Given the description of an element on the screen output the (x, y) to click on. 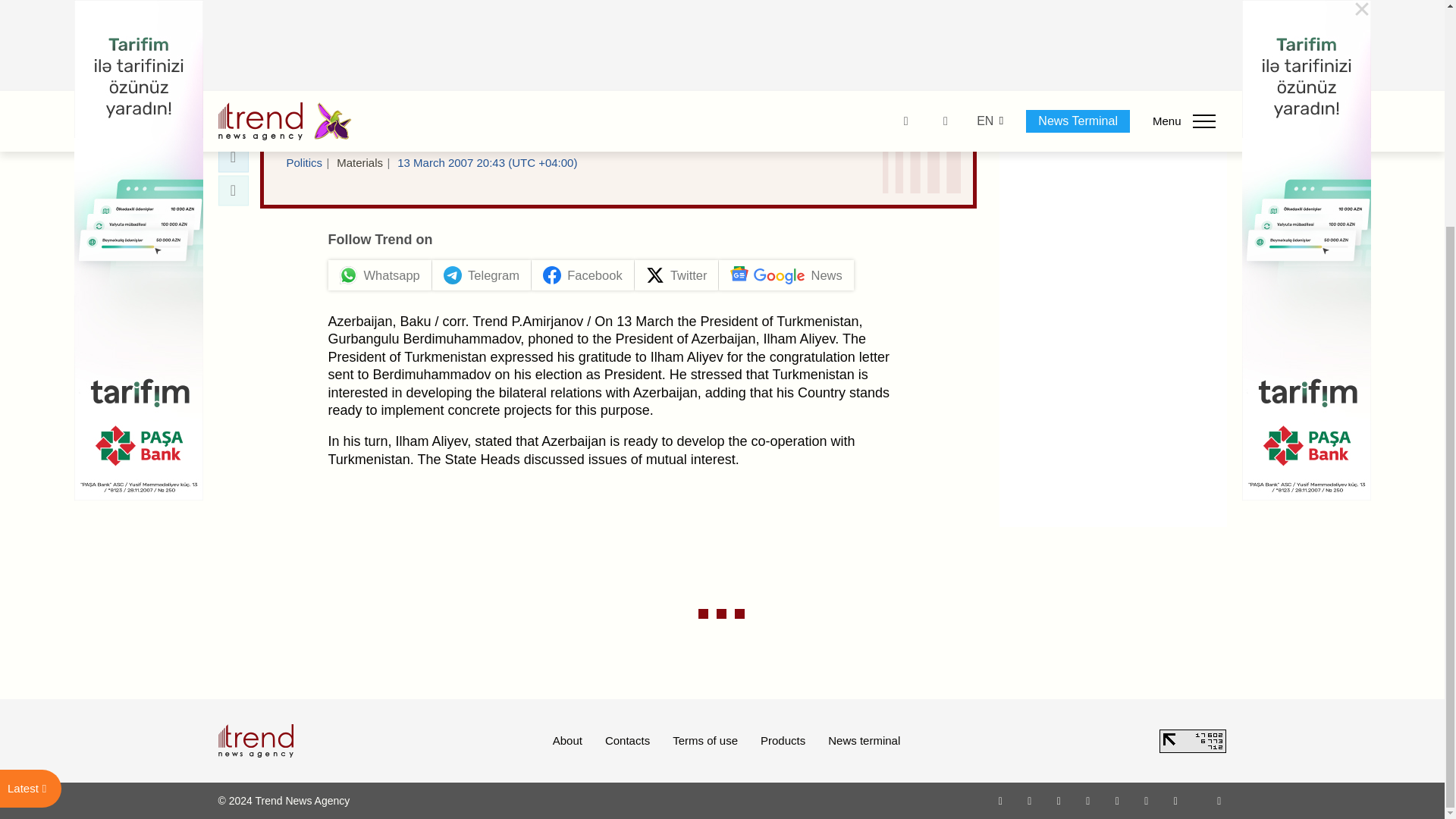
RSS Feed (1219, 800)
Telegram (1117, 800)
Twitter (1059, 800)
Android App (1176, 800)
LinkedIn (1146, 800)
Facebook (1029, 800)
Whatsapp (1000, 800)
Youtube (1088, 800)
